Given the description of an element on the screen output the (x, y) to click on. 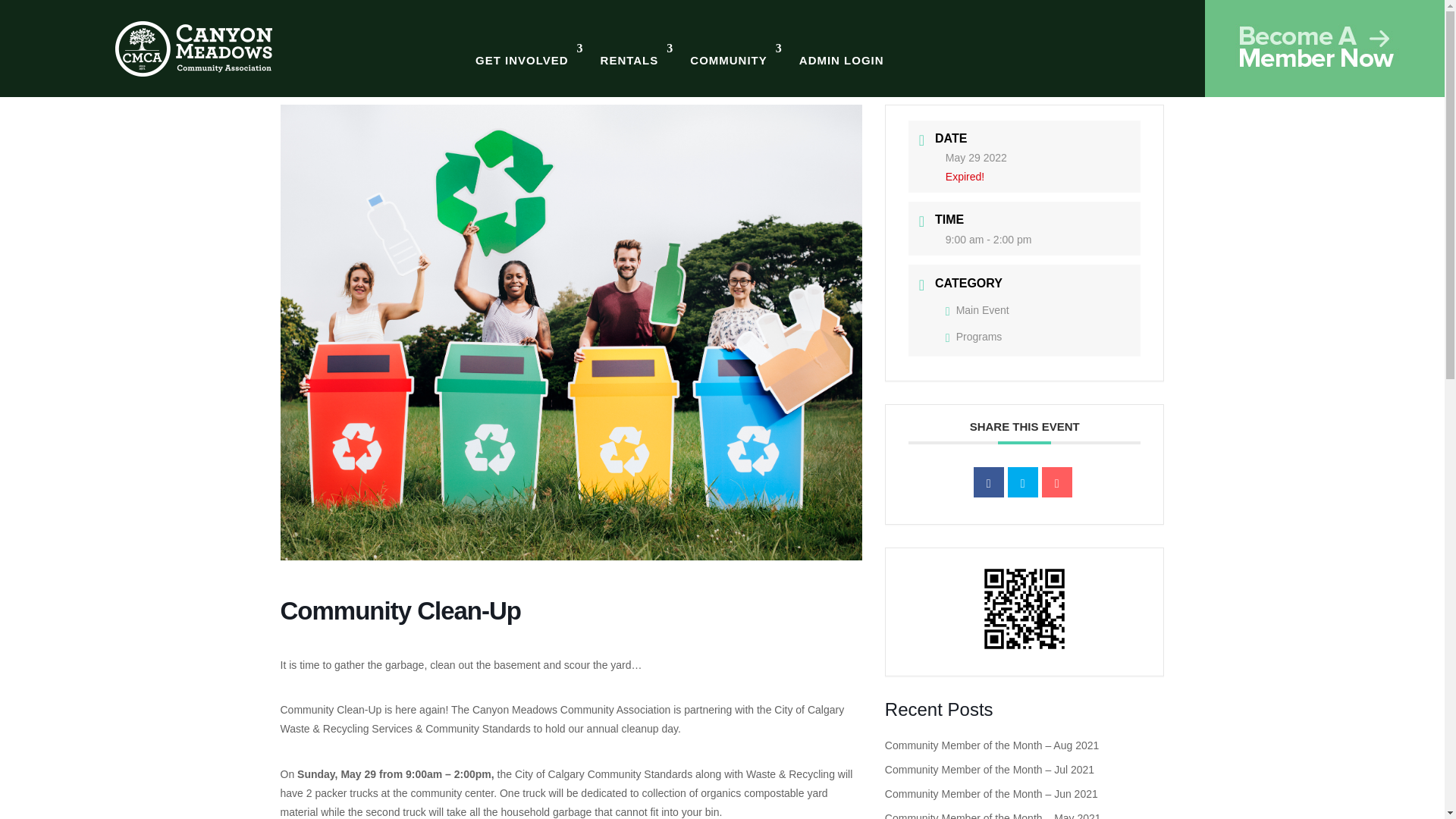
Email (1056, 481)
ADMIN LOGIN (841, 48)
RENTALS (636, 48)
GET INVOLVED (529, 48)
Programs (973, 336)
Tweet (1022, 481)
Share on Facebook (989, 481)
COMMUNITY (736, 48)
Main Event (976, 309)
